Given the description of an element on the screen output the (x, y) to click on. 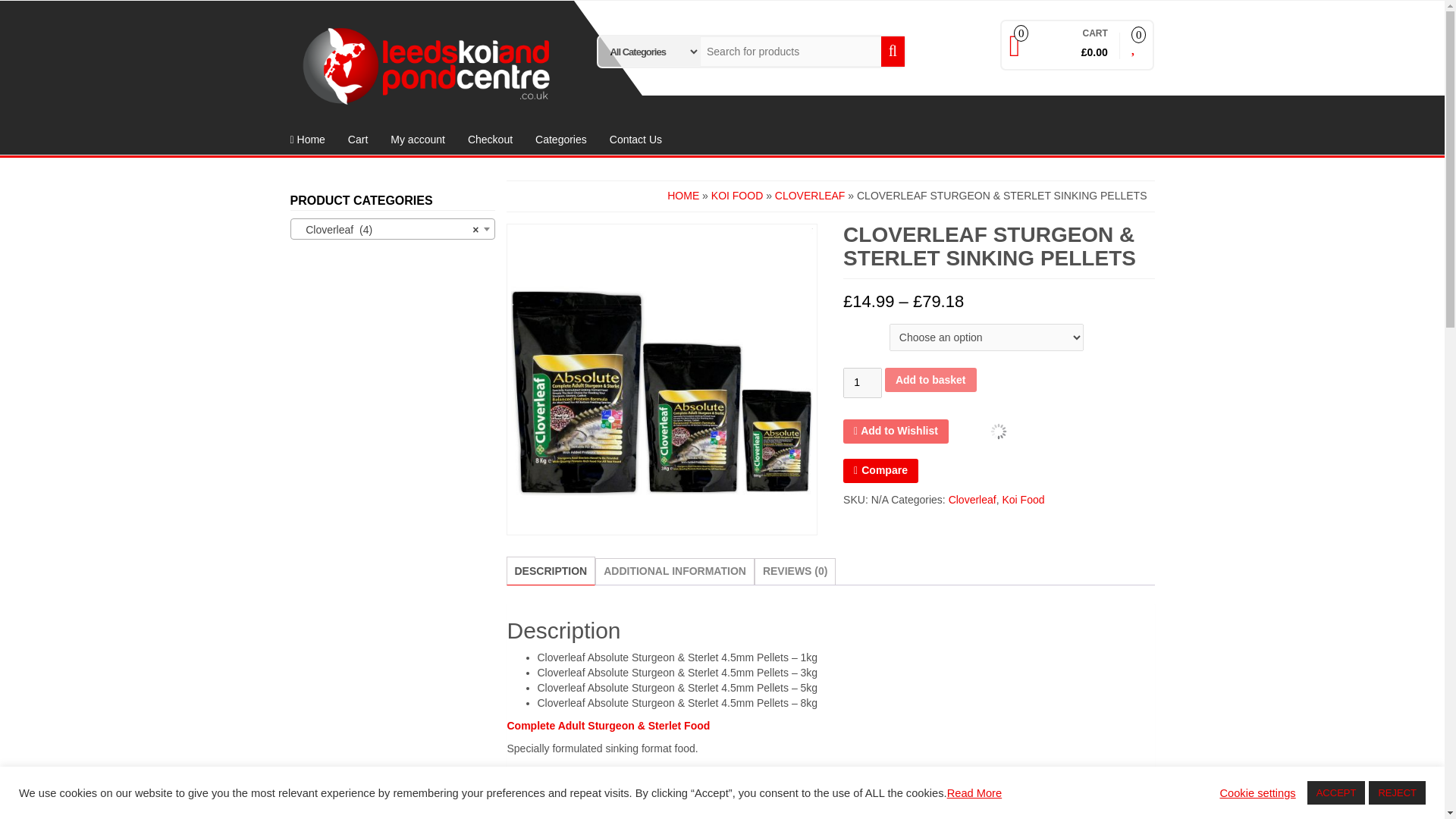
Contact Us (635, 139)
KOI FOOD (736, 195)
Cart (357, 139)
Categories (561, 139)
ADDITIONAL INFORMATION (674, 571)
Checkout (490, 139)
Cloverleaf (972, 499)
1 (862, 382)
DESCRIPTION (549, 571)
Koi Food (1022, 499)
My account (417, 139)
Add to basket (930, 379)
CLOVERLEAF (809, 195)
Categories (561, 139)
HOME (682, 195)
